Given the description of an element on the screen output the (x, y) to click on. 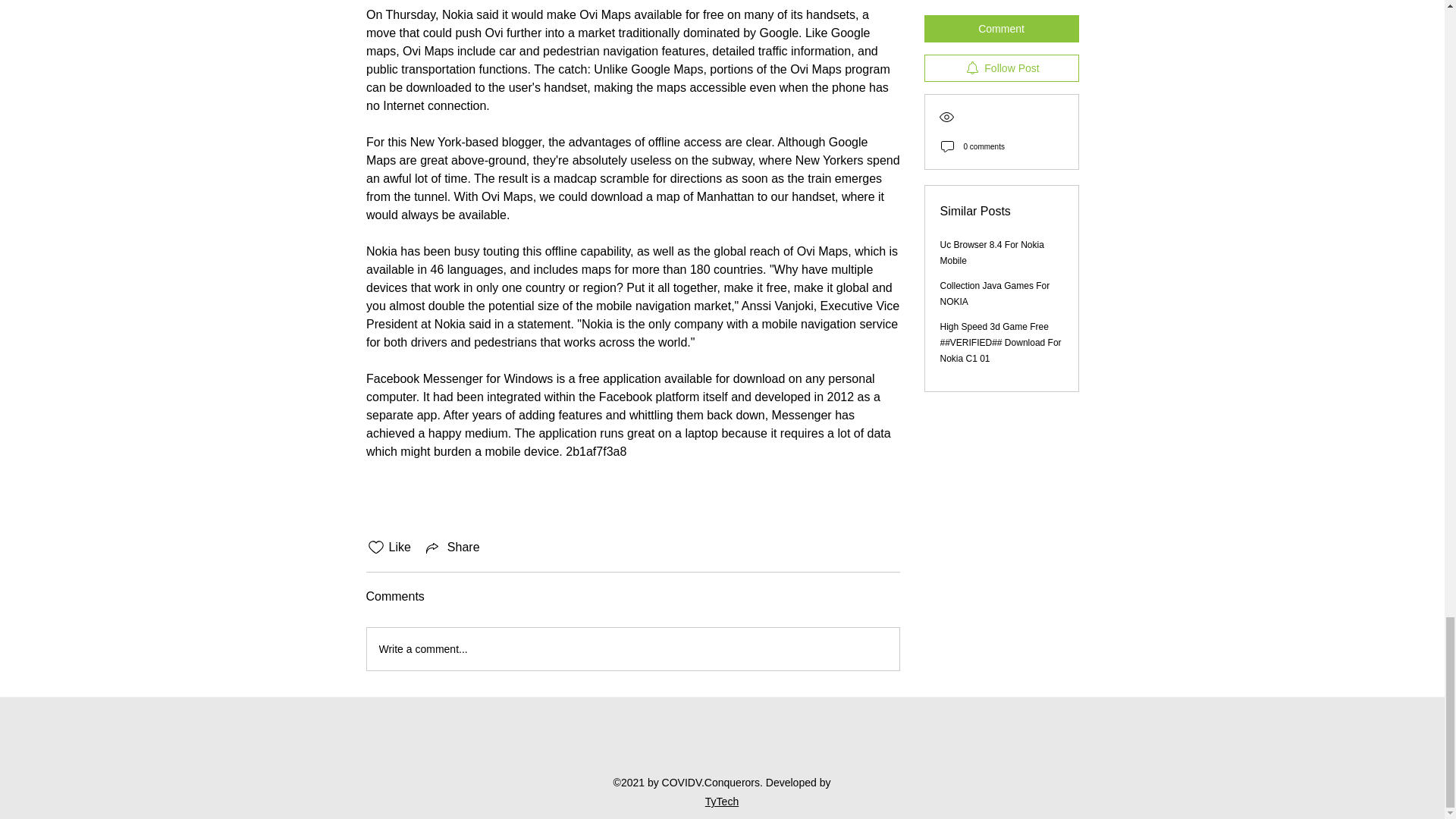
TyTech (721, 801)
Write a comment... (632, 649)
Share (451, 547)
